Given the description of an element on the screen output the (x, y) to click on. 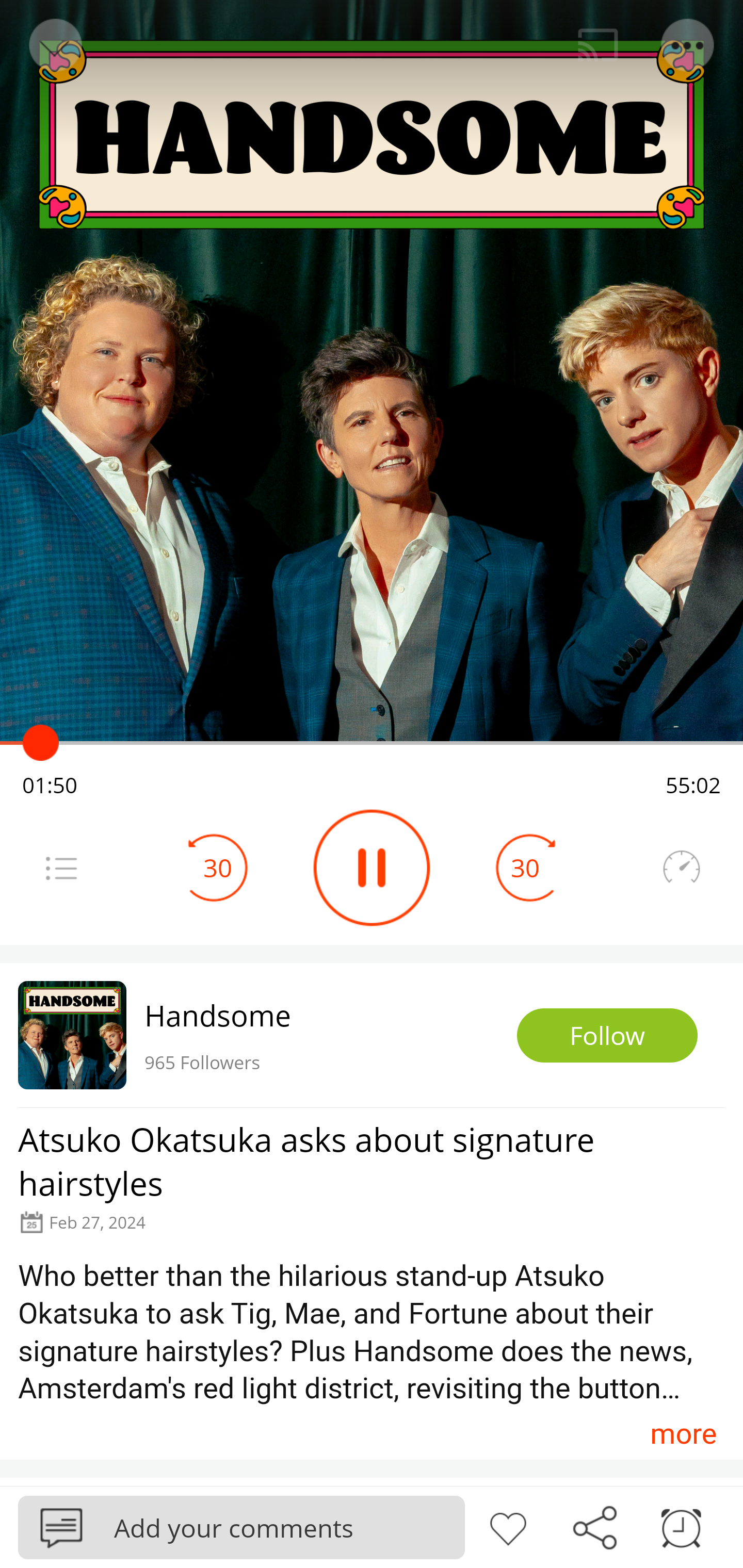
Back (53, 45)
Cast. Disconnected (597, 45)
Menu (688, 45)
Play (371, 867)
30 Seek Backward (217, 867)
30 Seek Forward (525, 867)
Menu (60, 867)
Speedometer (681, 867)
Handsome 965 Followers Follow (371, 1034)
Follow (607, 1035)
more (682, 1432)
Like (508, 1526)
Share (594, 1526)
Sleep timer (681, 1526)
Podbean Add your comments (241, 1526)
